Given the description of an element on the screen output the (x, y) to click on. 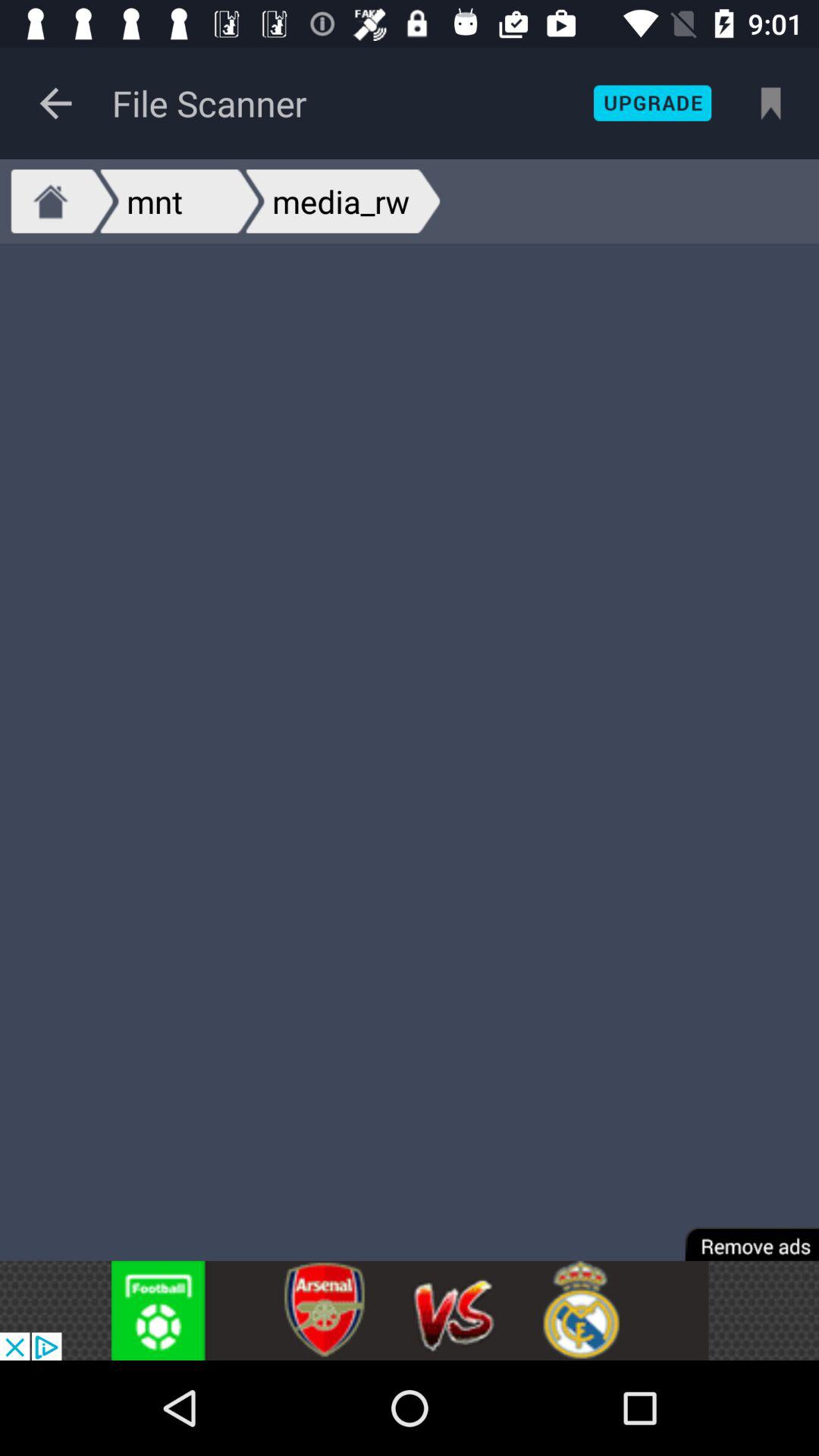
open upgrade option (652, 103)
